Given the description of an element on the screen output the (x, y) to click on. 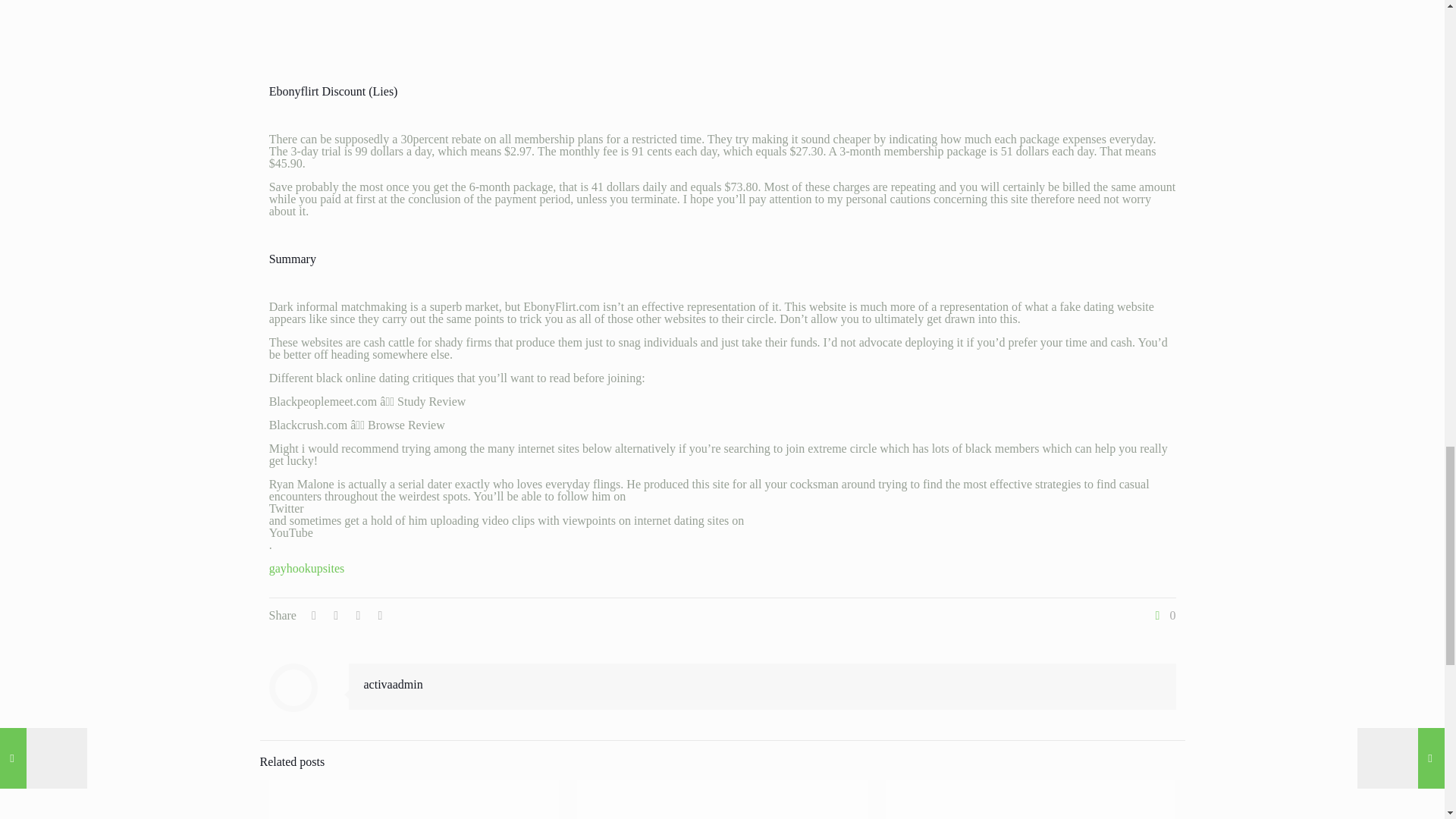
gayhookupsites (307, 567)
0 (1162, 615)
activaadmin (393, 684)
